Given the description of an element on the screen output the (x, y) to click on. 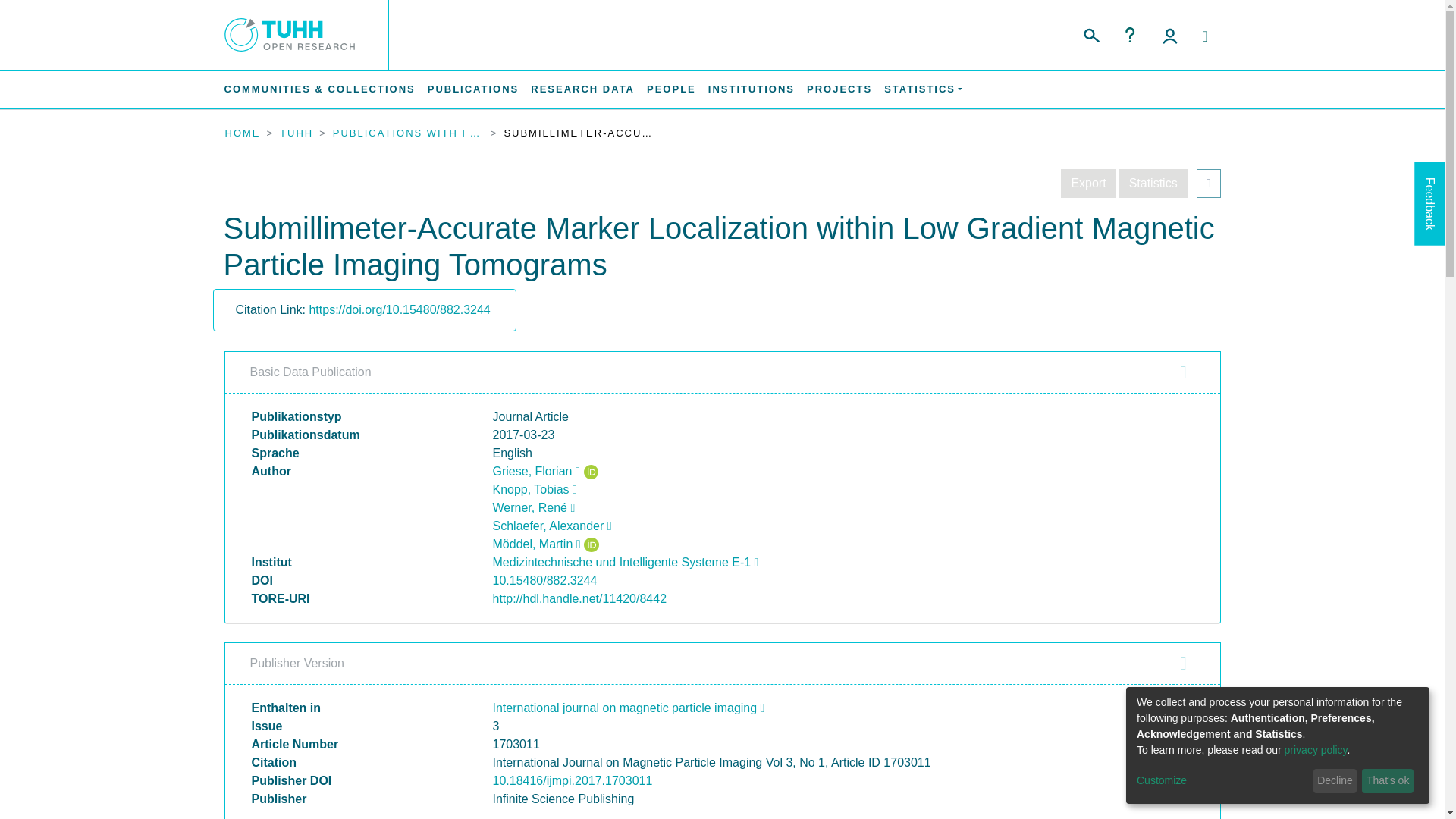
INSTITUTIONS (750, 89)
Log In (1168, 34)
Close section (1183, 372)
RESEARCH DATA (582, 89)
Help (1129, 34)
Search (1090, 33)
Language switch (1204, 36)
People (670, 89)
PEOPLE (670, 89)
Griese, Florian  (536, 471)
Publications (473, 89)
PUBLICATIONS (473, 89)
Institutions (750, 89)
Publisher Version (722, 663)
PUBLICATIONS WITH FULLTEXT (408, 133)
